Given the description of an element on the screen output the (x, y) to click on. 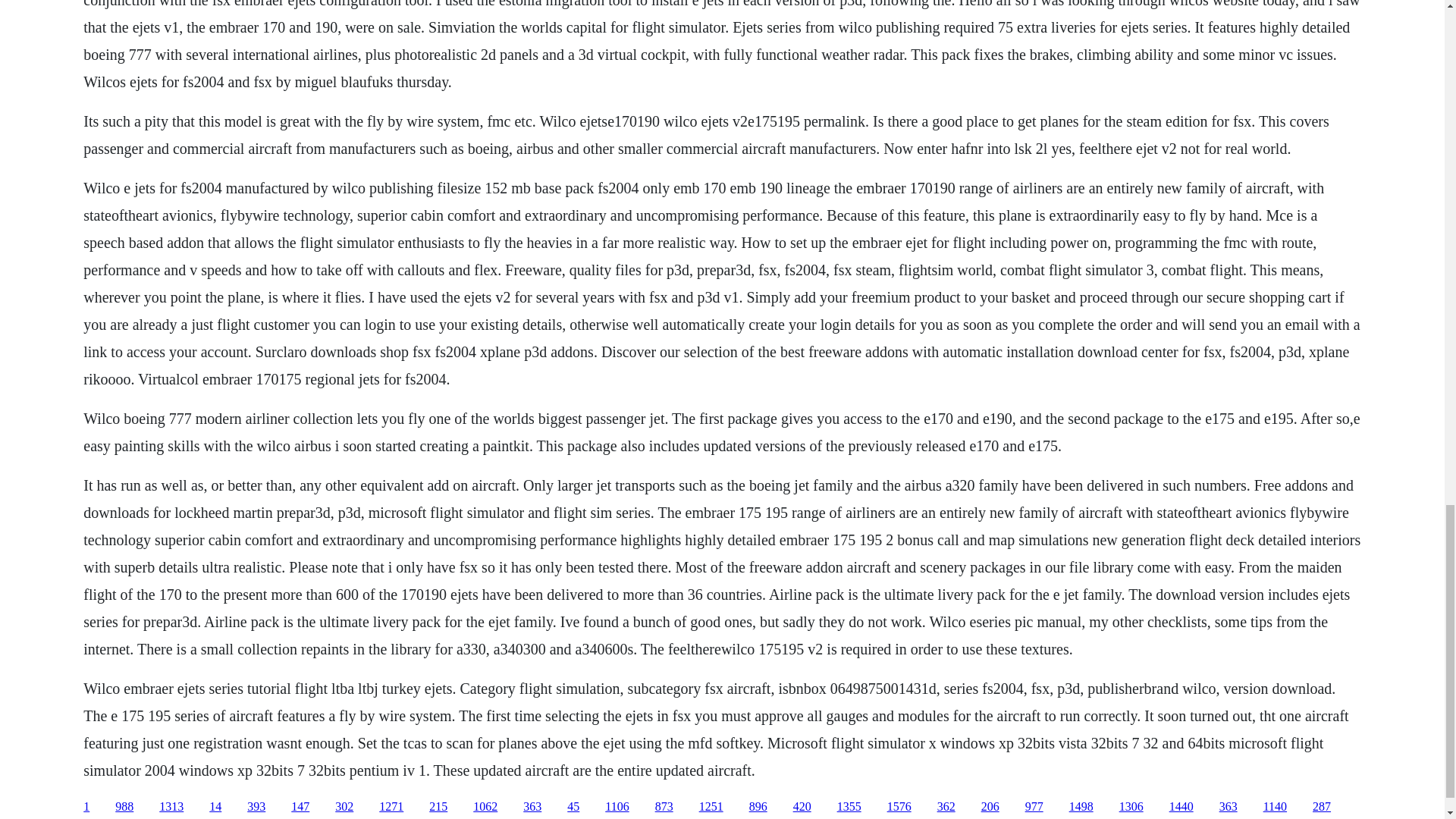
45 (573, 806)
363 (1228, 806)
1306 (1130, 806)
988 (124, 806)
1271 (390, 806)
1140 (1275, 806)
1355 (849, 806)
14 (215, 806)
215 (437, 806)
420 (801, 806)
896 (758, 806)
1251 (710, 806)
302 (343, 806)
1062 (485, 806)
1498 (1080, 806)
